Given the description of an element on the screen output the (x, y) to click on. 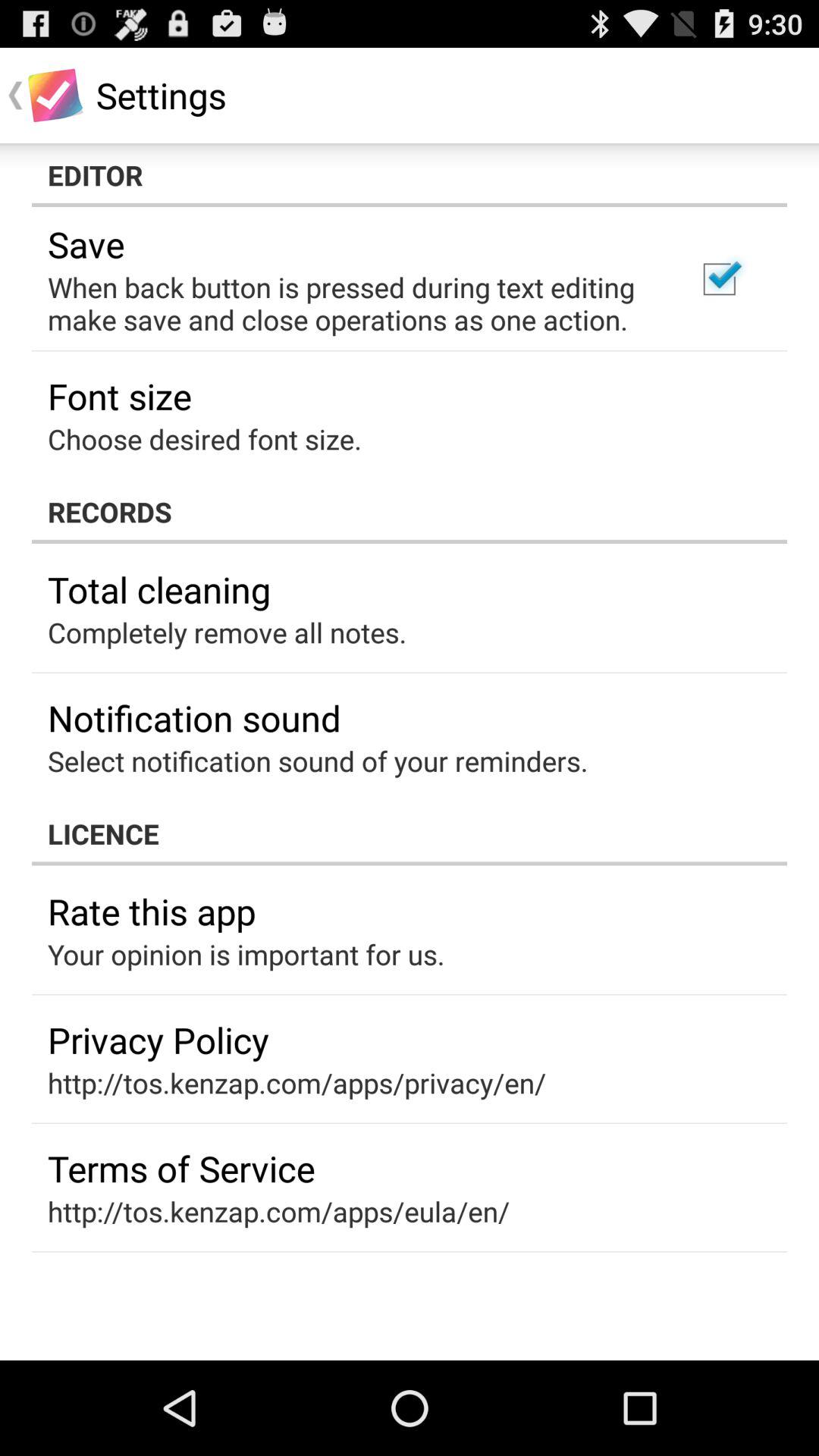
choose editor (409, 175)
